Given the description of an element on the screen output the (x, y) to click on. 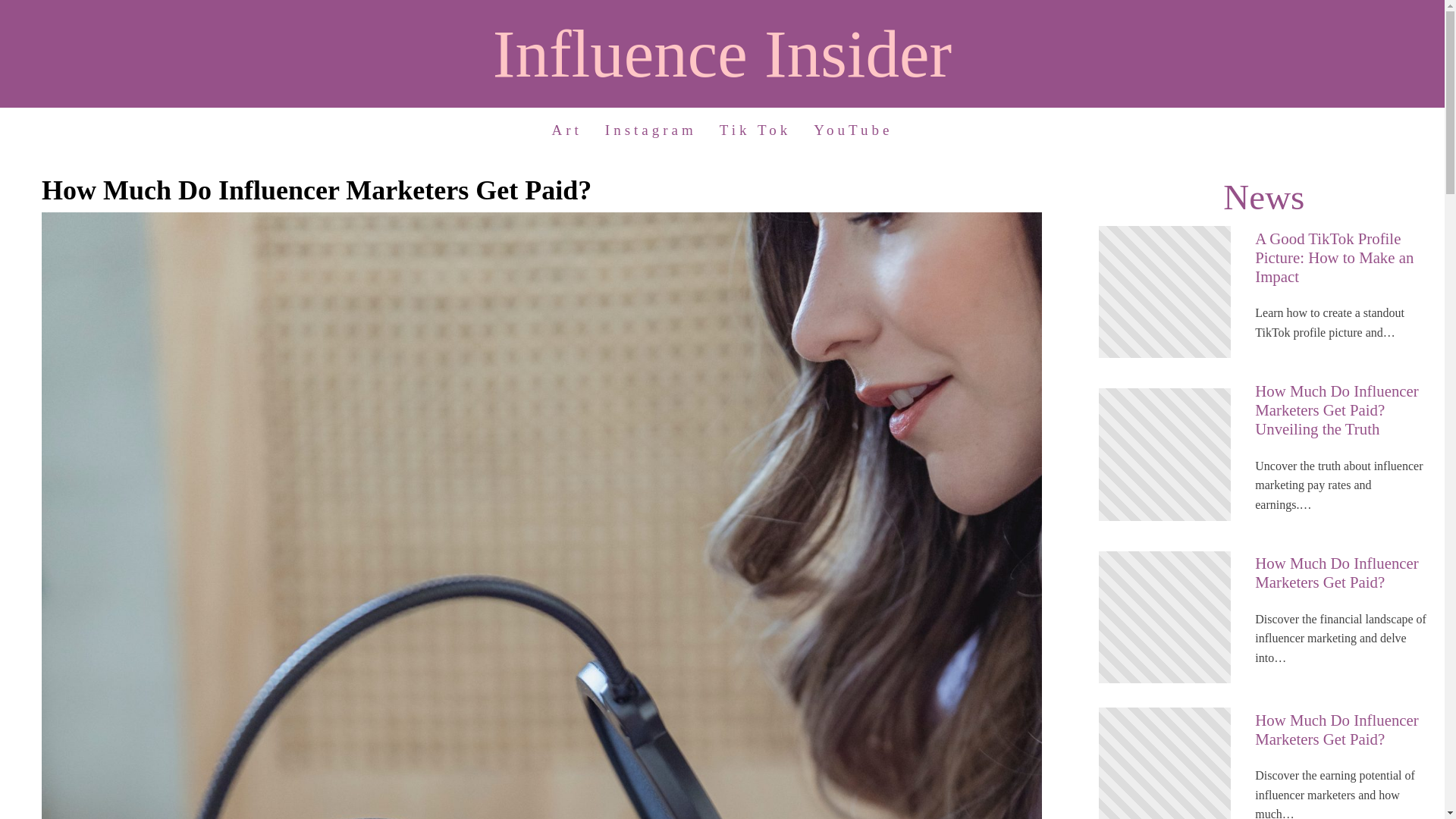
How Much Do Influencer Marketers Get Paid? (1342, 730)
YouTube (853, 130)
Instagram (650, 130)
A Good TikTok Profile Picture: How to Make an Impact (1342, 258)
Art (567, 130)
Tik Tok (754, 130)
How Much Do Influencer Marketers Get Paid? (1342, 573)
Influence Insider (722, 53)
